Given the description of an element on the screen output the (x, y) to click on. 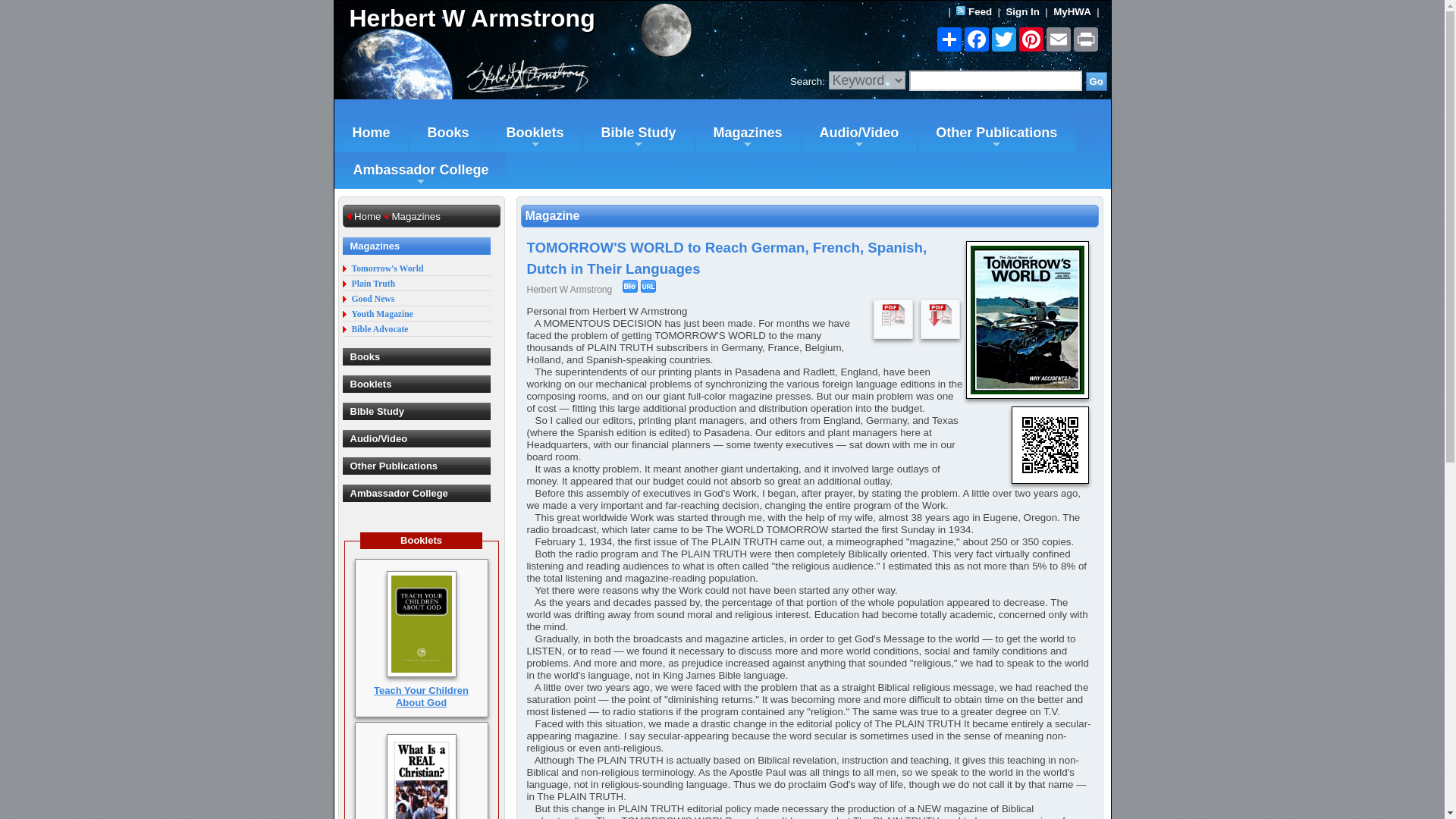
Magazines (747, 132)
Facebook (976, 39)
MyHWA (1071, 11)
Sign In (1022, 11)
Other Publications (996, 132)
Click down arrow to see all 3 search options. (866, 80)
Go (1096, 81)
Pinterest (1031, 39)
Print (1085, 39)
Home (370, 132)
